Given the description of an element on the screen output the (x, y) to click on. 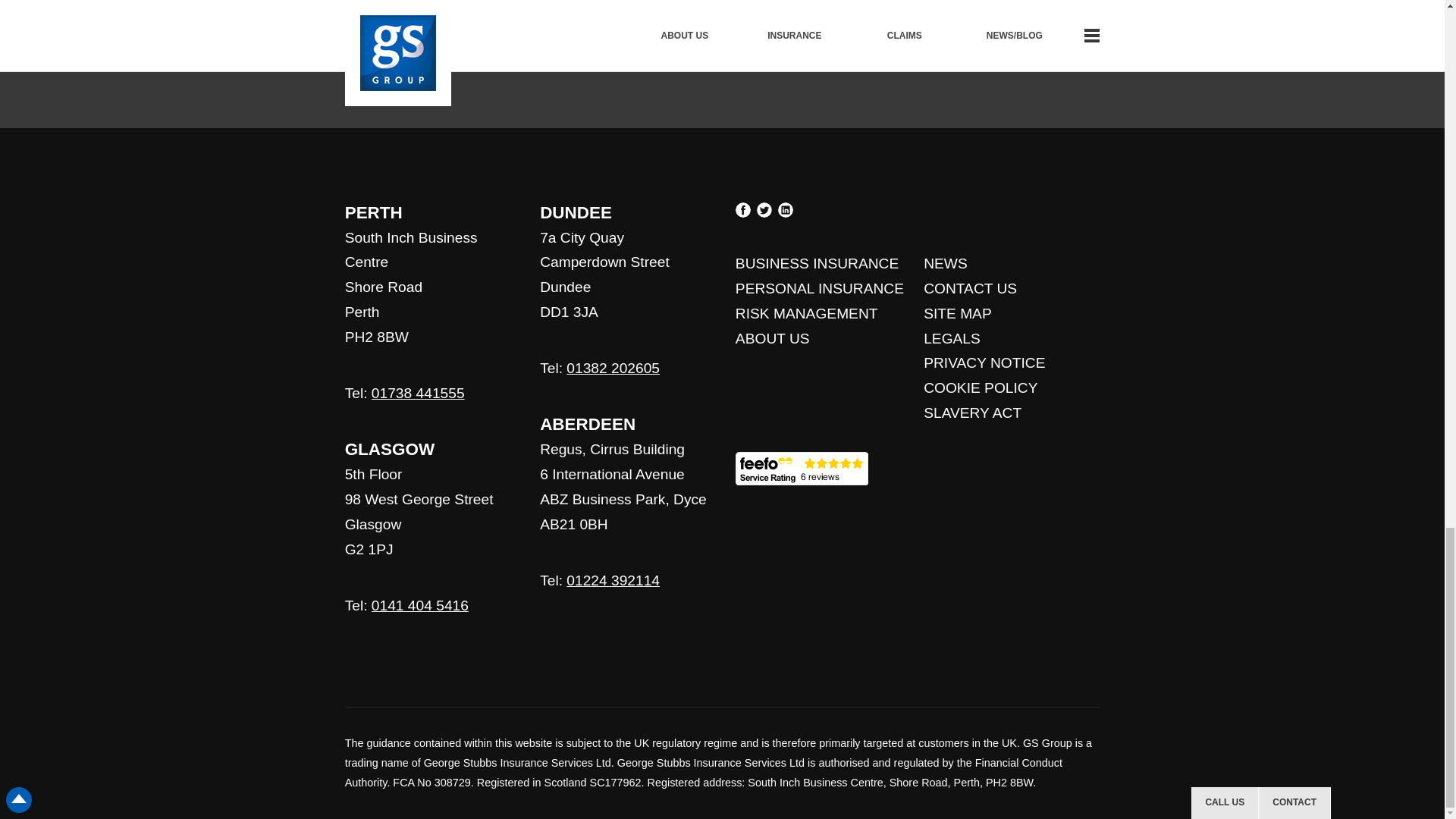
01224 392114 (612, 580)
Follow GS Group (722, 64)
0141 404 5416 (419, 605)
See what our customers say about us (801, 468)
01382 202605 (612, 367)
01738 441555 (417, 392)
